Given the description of an element on the screen output the (x, y) to click on. 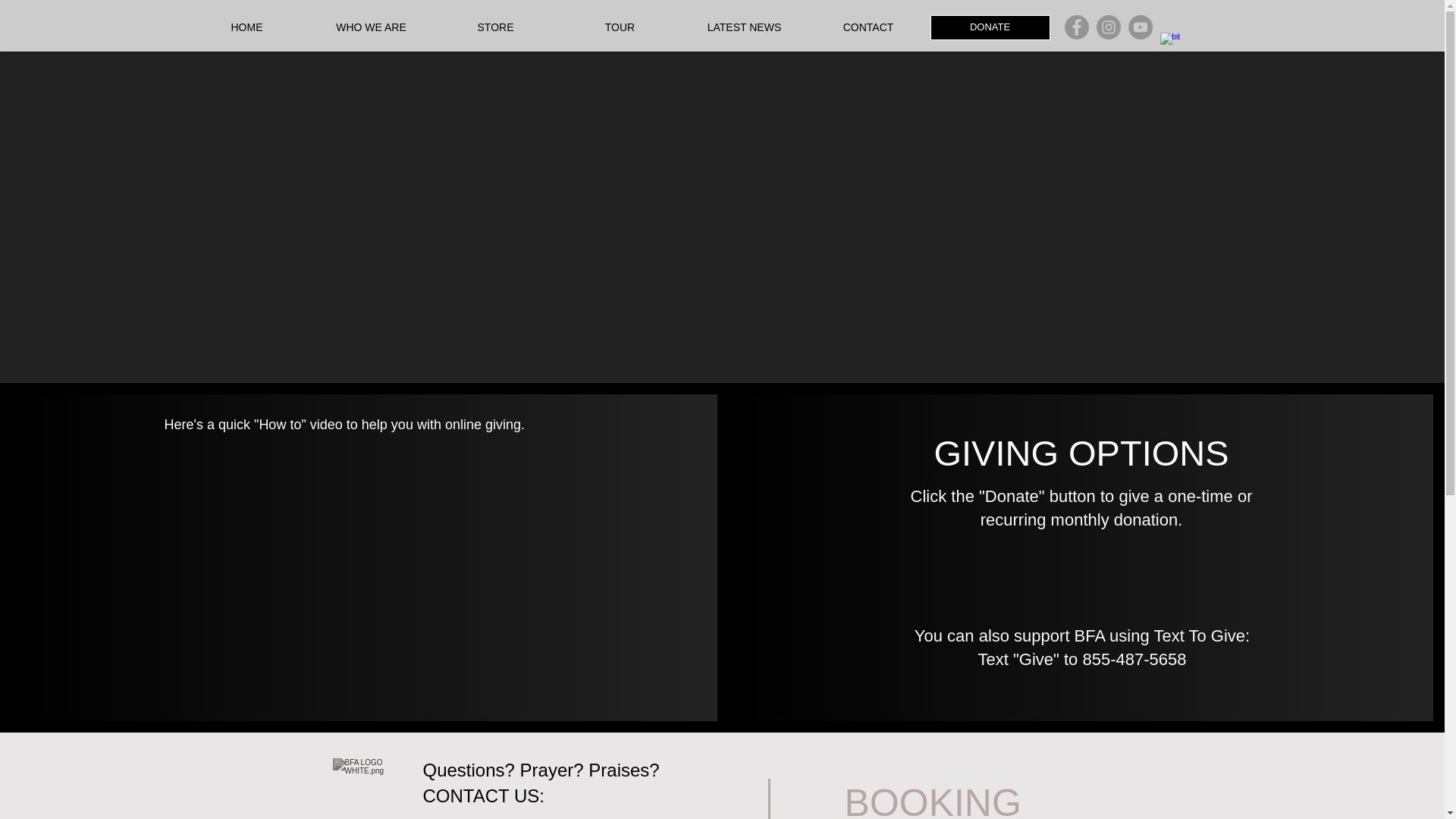
DONATE (989, 27)
LATEST NEWS (744, 27)
HOME (246, 27)
CONTACT (868, 27)
TOUR (619, 27)
STORE (495, 27)
WHO WE ARE (370, 27)
855-487-5658 (1133, 659)
